Given the description of an element on the screen output the (x, y) to click on. 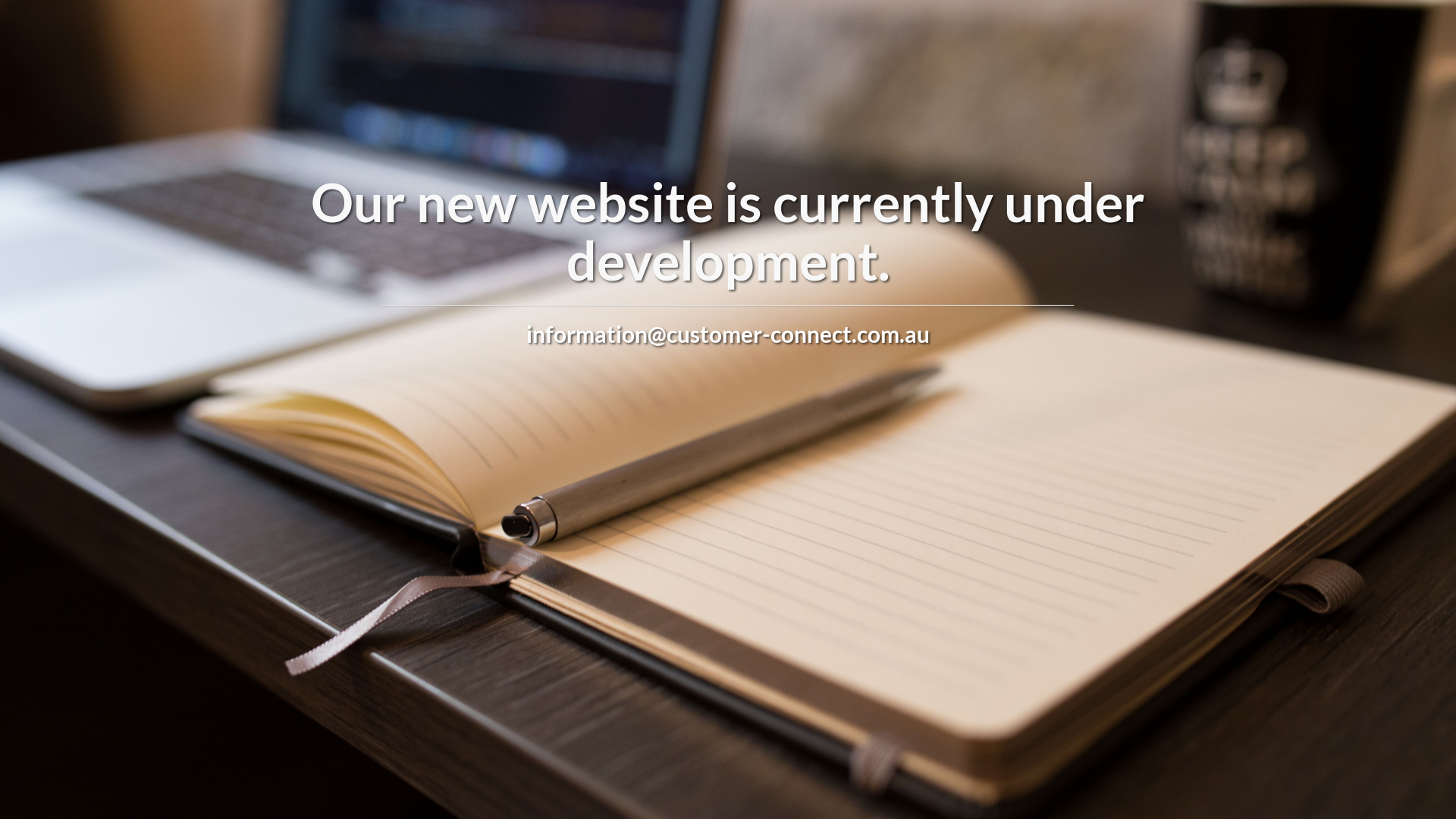
information@customer-connect.com.au Element type: text (727, 333)
